Given the description of an element on the screen output the (x, y) to click on. 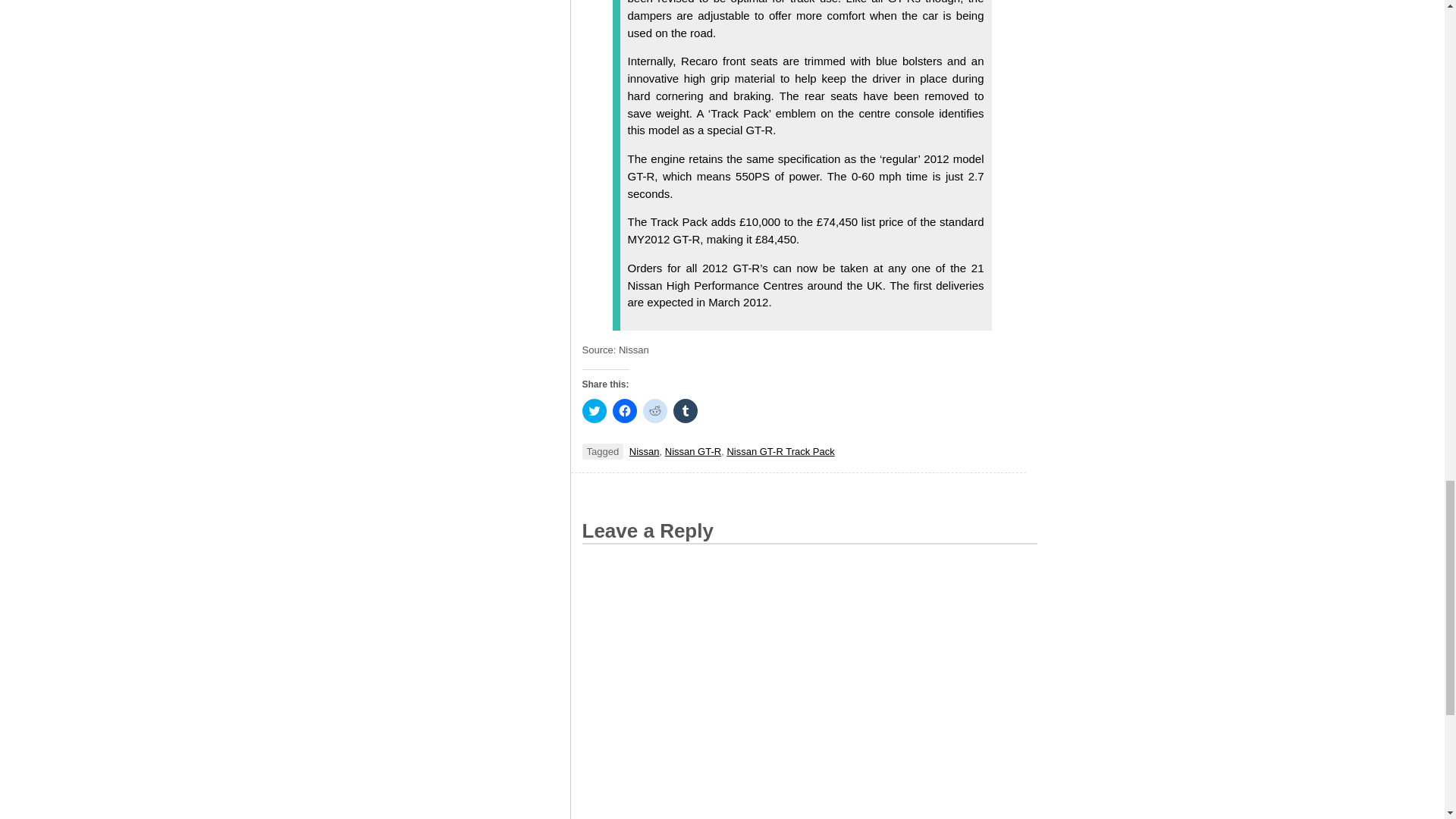
Nissan GT-R Track Pack (780, 451)
Click to share on Facebook (624, 410)
Click to share on Tumblr (684, 410)
Comment Form (809, 680)
Nissan GT-R (692, 451)
Click to share on Reddit (654, 410)
Nissan (643, 451)
Click to share on Twitter (594, 410)
